Given the description of an element on the screen output the (x, y) to click on. 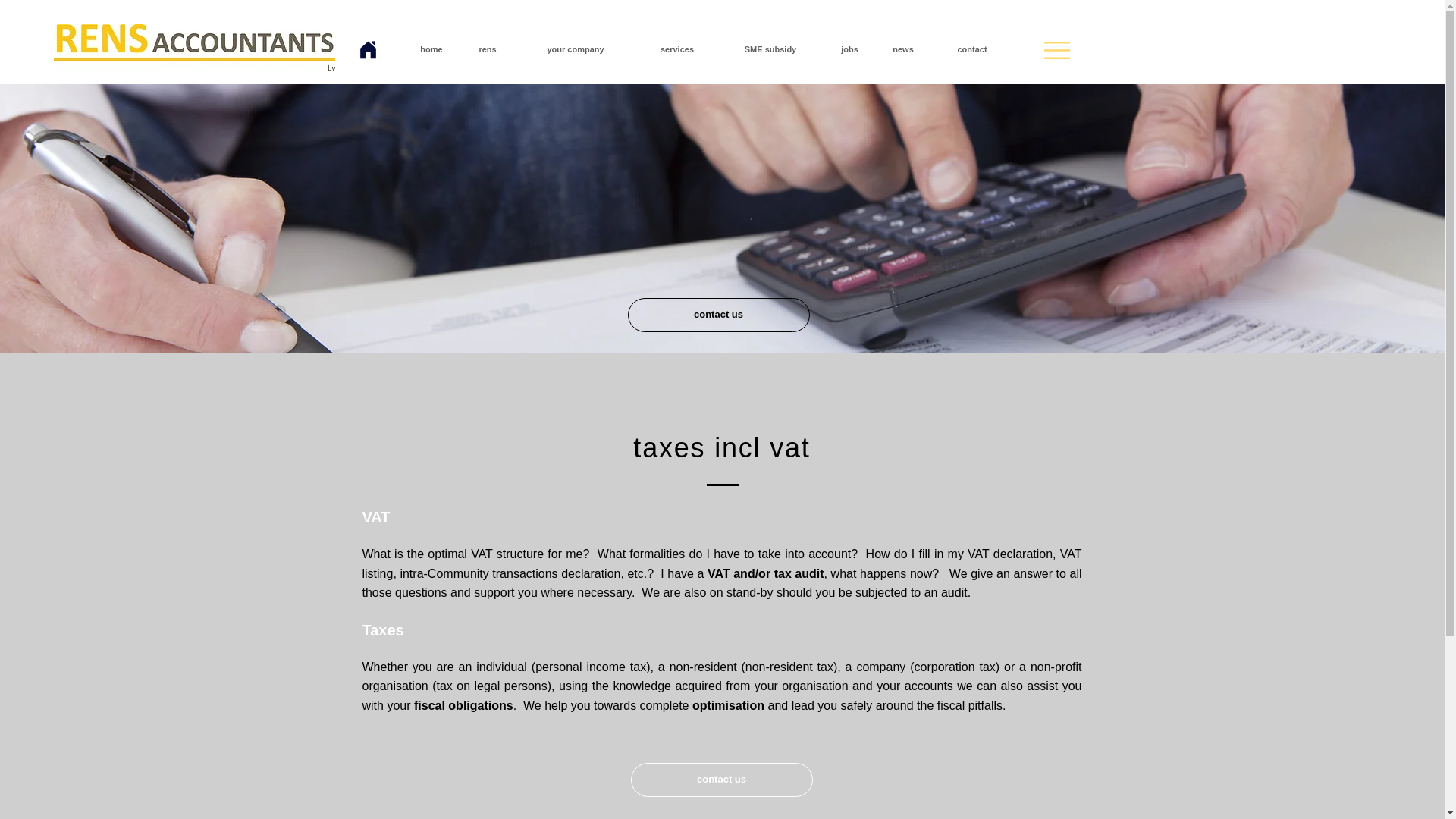
contact us (721, 779)
jobs (849, 50)
contact us (718, 315)
news (903, 50)
SME subsidy (770, 50)
your company (575, 50)
home (430, 50)
services (676, 50)
rens (486, 50)
contact (971, 50)
